Given the description of an element on the screen output the (x, y) to click on. 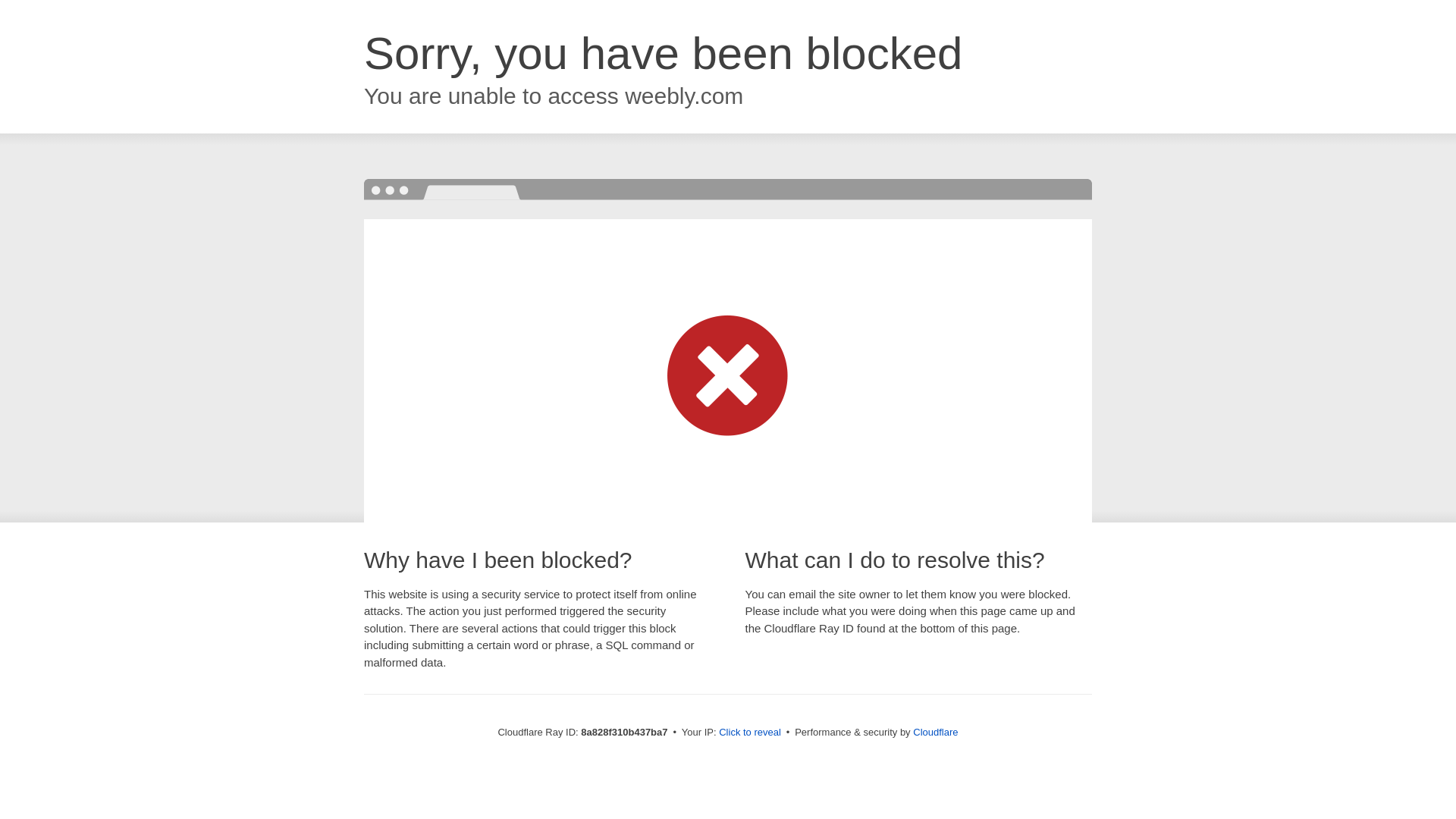
Click to reveal (749, 732)
Cloudflare (935, 731)
